Given the description of an element on the screen output the (x, y) to click on. 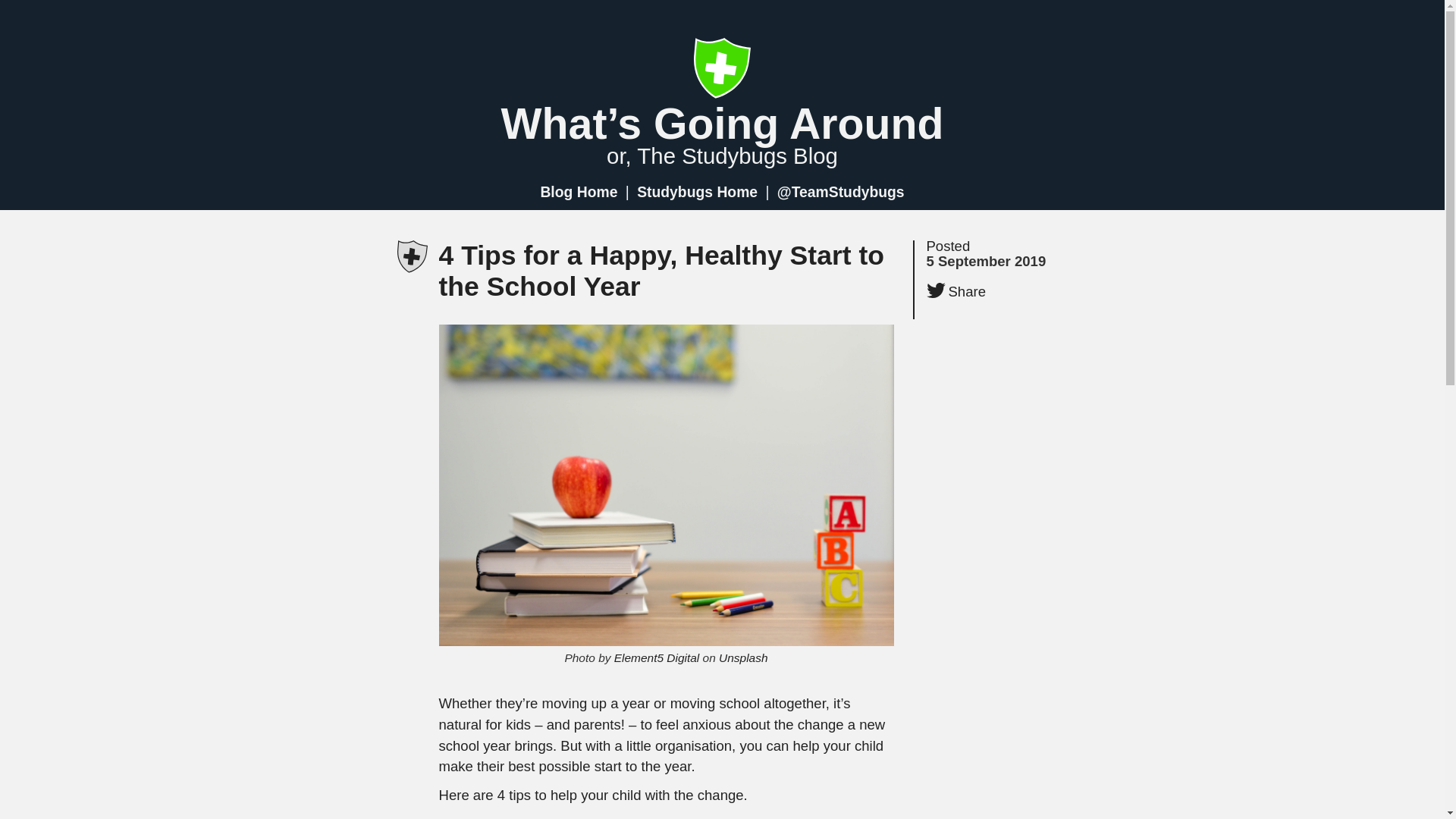
Blog Home (578, 191)
Studybugs Home (697, 191)
4 Tips for a Happy, Healthy Start to the School Year (660, 271)
Share (956, 291)
Element5 Digital (657, 657)
The Studybugs Blog (737, 155)
Unsplash (743, 657)
